Given the description of an element on the screen output the (x, y) to click on. 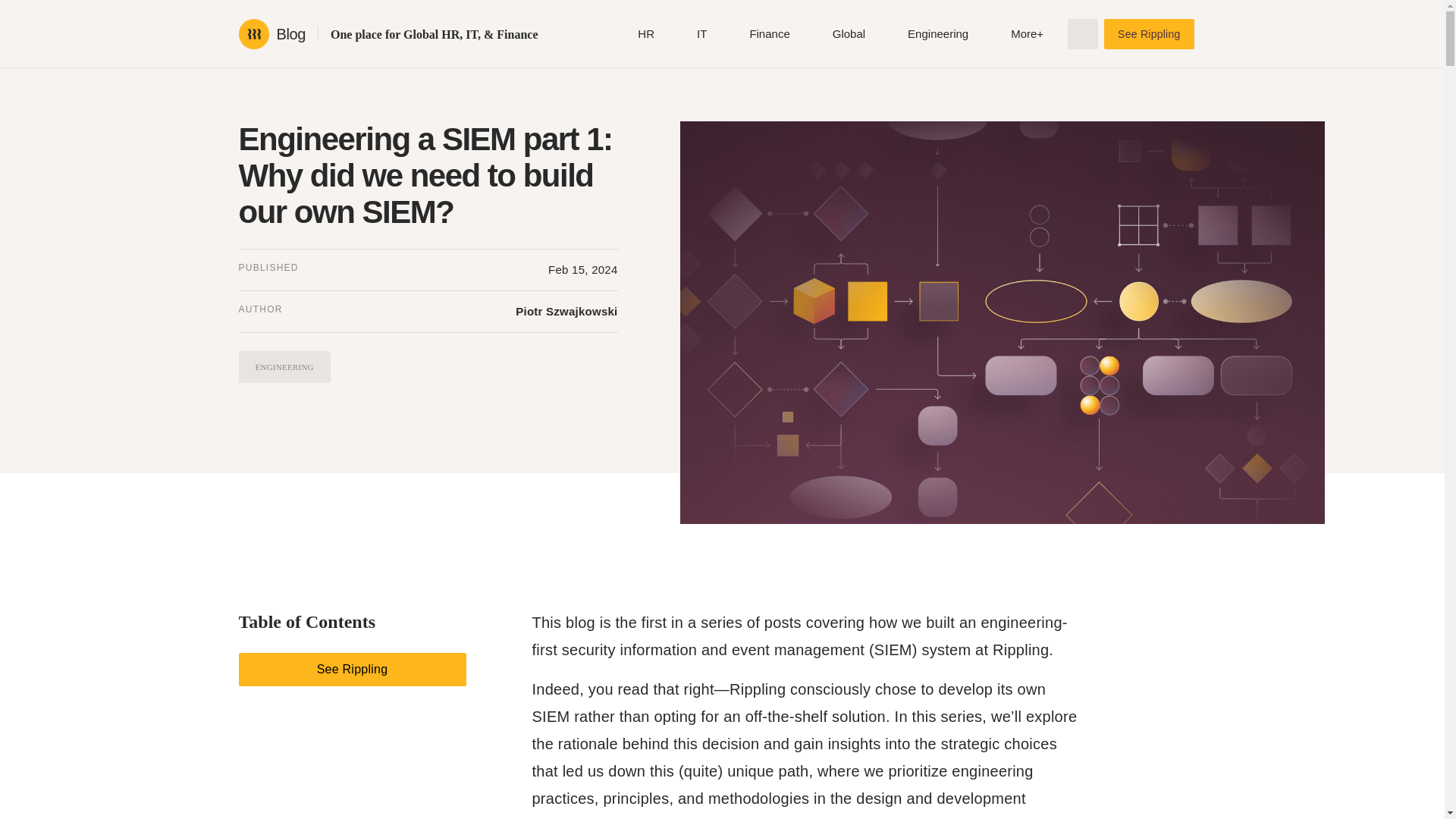
Global (848, 33)
ENGINEERING (284, 367)
Rippling (252, 33)
Piotr Szwajkowski (566, 310)
Finance (769, 33)
Blog (290, 33)
HR (645, 33)
Finance (769, 33)
HR (645, 33)
Engineering (937, 33)
